Given the description of an element on the screen output the (x, y) to click on. 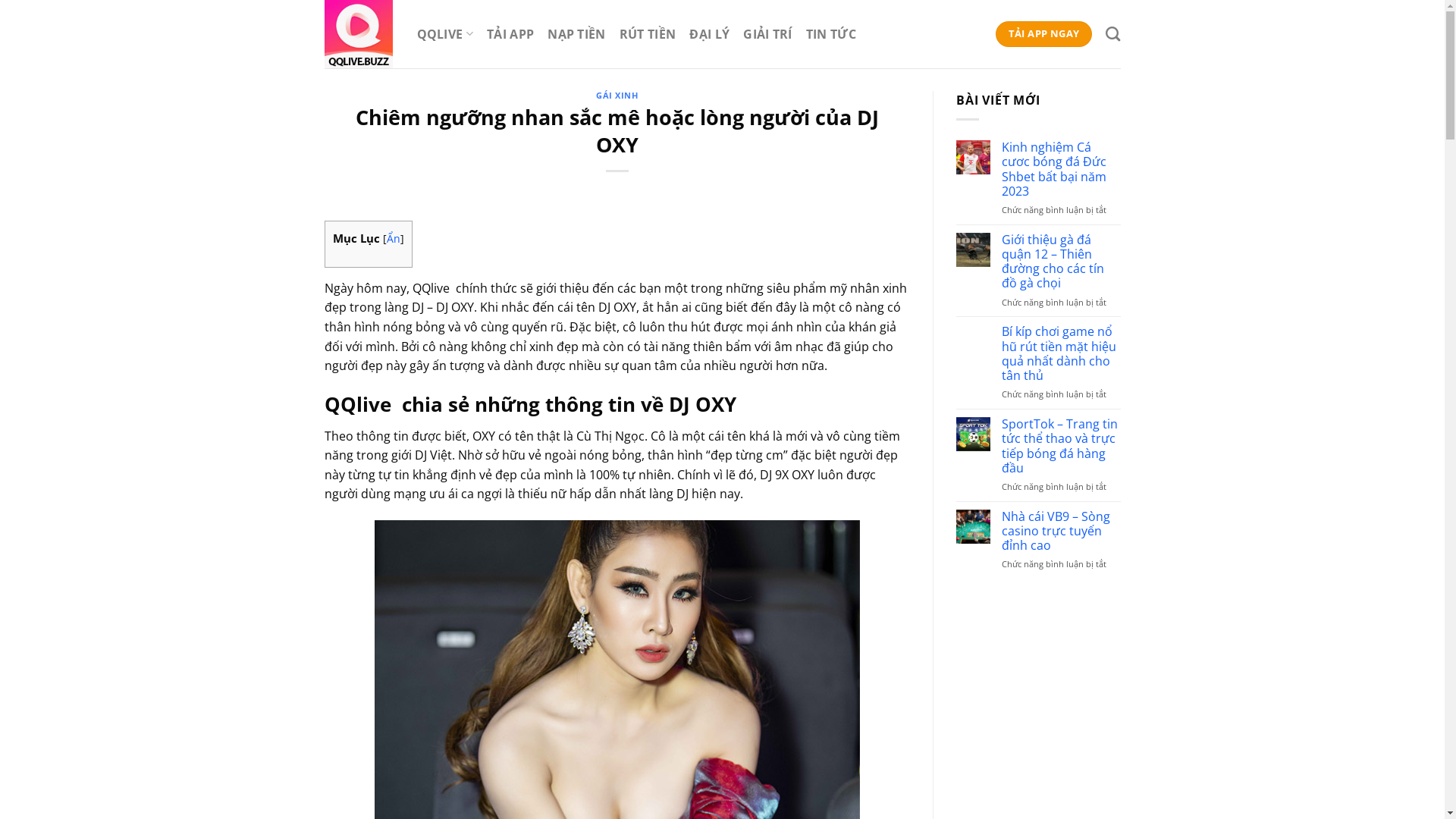
QQLIVE Element type: text (445, 33)
